Given the description of an element on the screen output the (x, y) to click on. 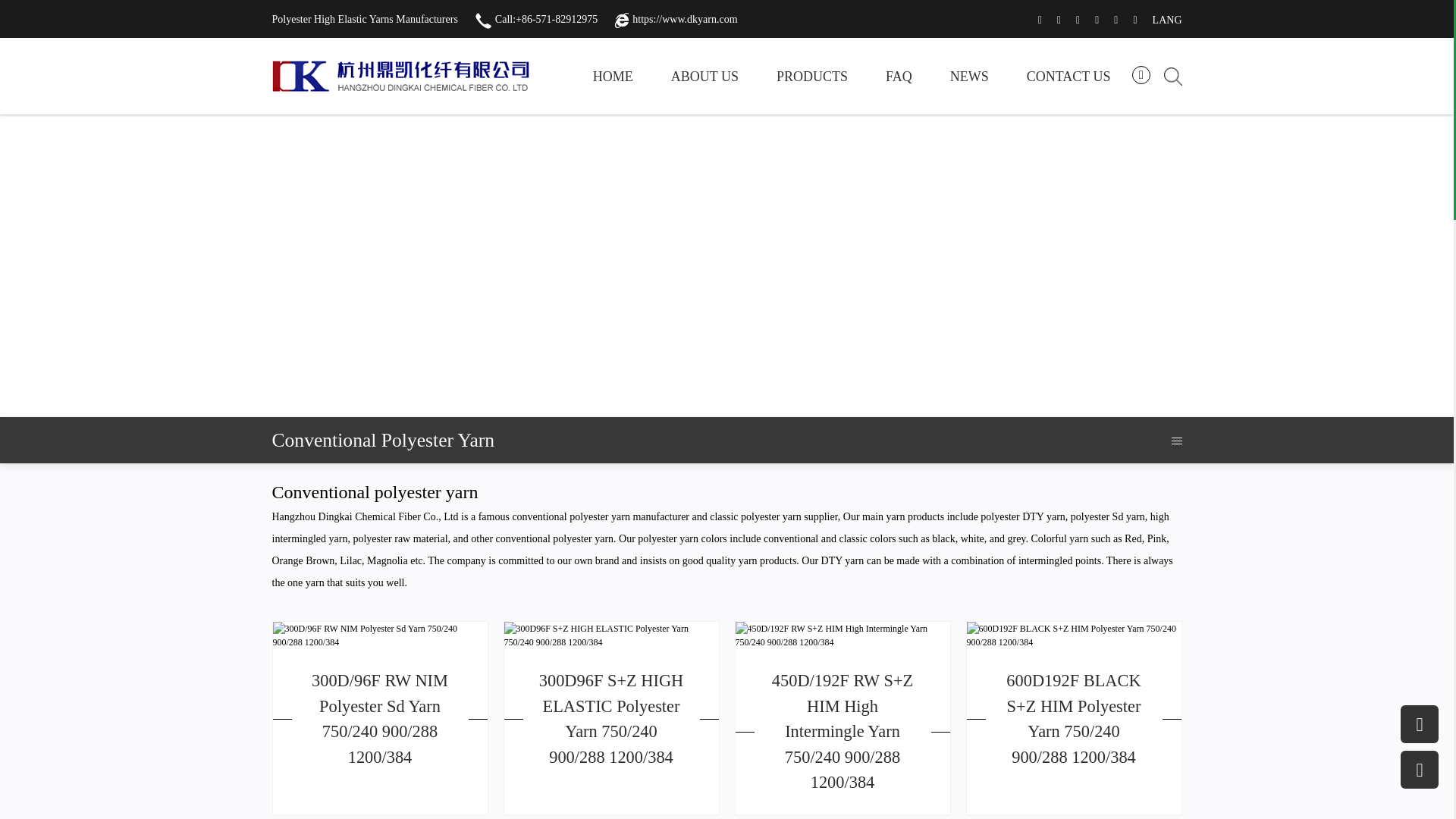
CONTACT US (1068, 76)
LANG (1167, 19)
Polyester High Elastic Yarns Manufacturers (363, 19)
ABOUT US (704, 76)
PRODUCTS (811, 76)
